Given the description of an element on the screen output the (x, y) to click on. 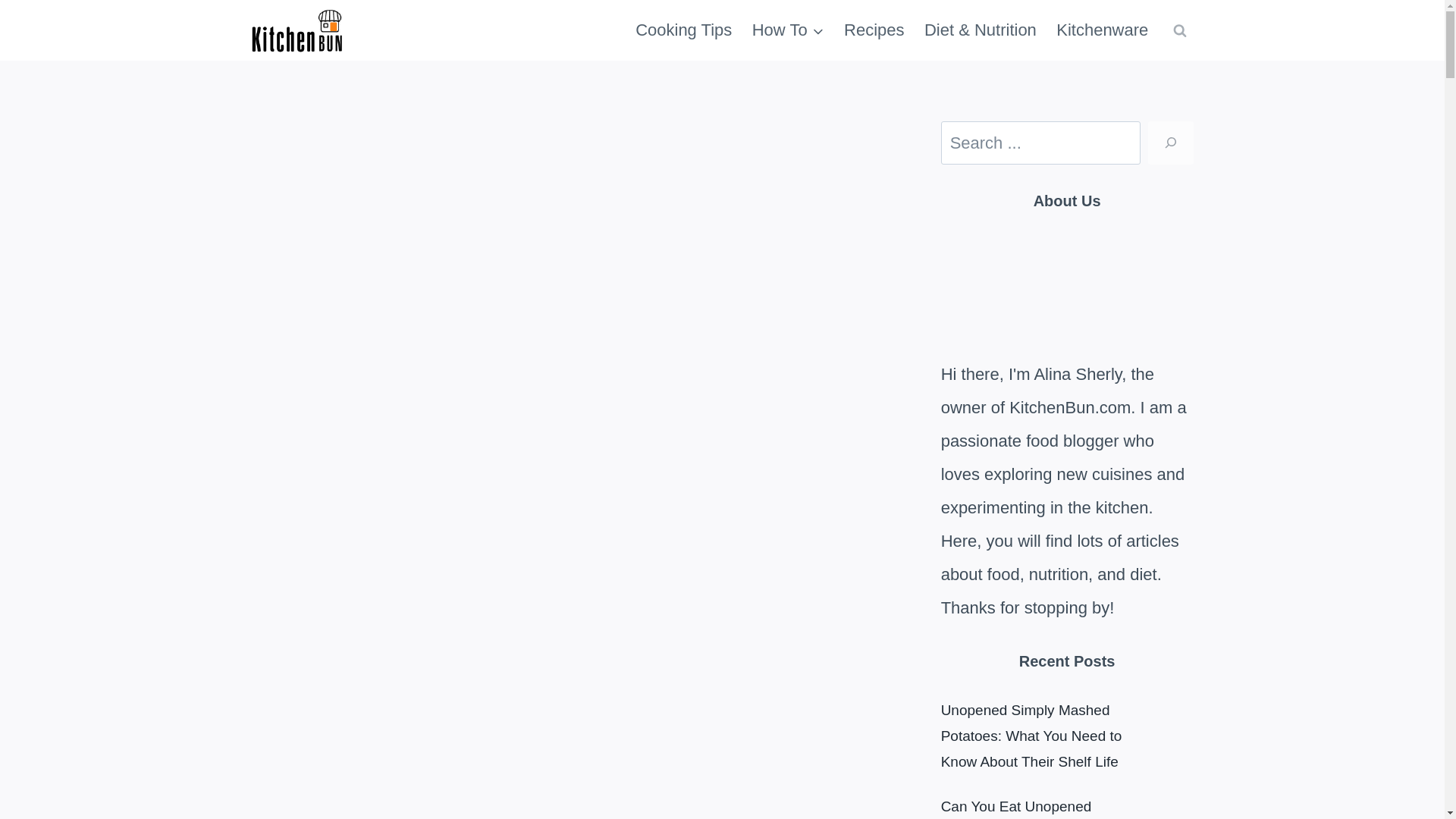
Cooking Tips (684, 29)
Recipes (874, 29)
How To (788, 29)
Kitchenware (1101, 29)
